Given the description of an element on the screen output the (x, y) to click on. 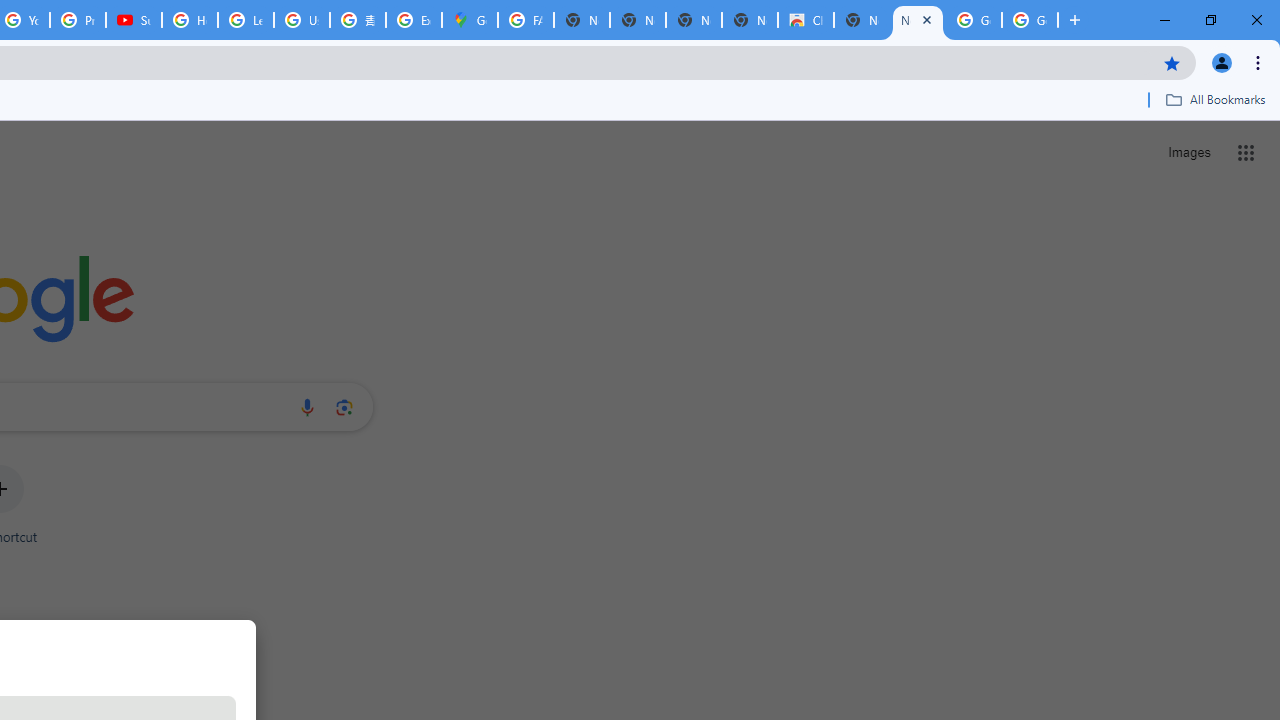
Google Images (1030, 20)
Google Maps (469, 20)
Google Images (973, 20)
